Given the description of an element on the screen output the (x, y) to click on. 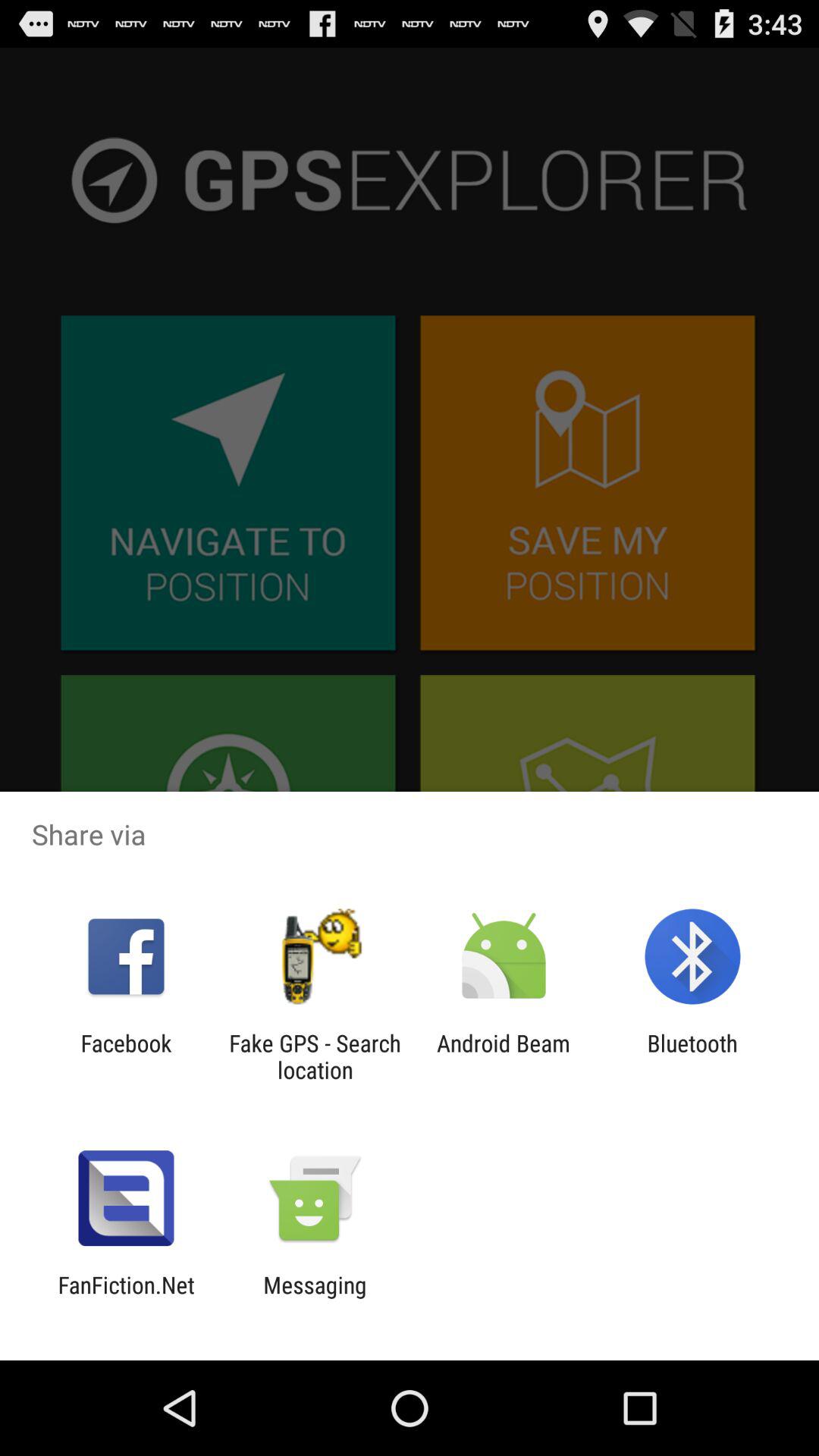
click android beam icon (503, 1056)
